Given the description of an element on the screen output the (x, y) to click on. 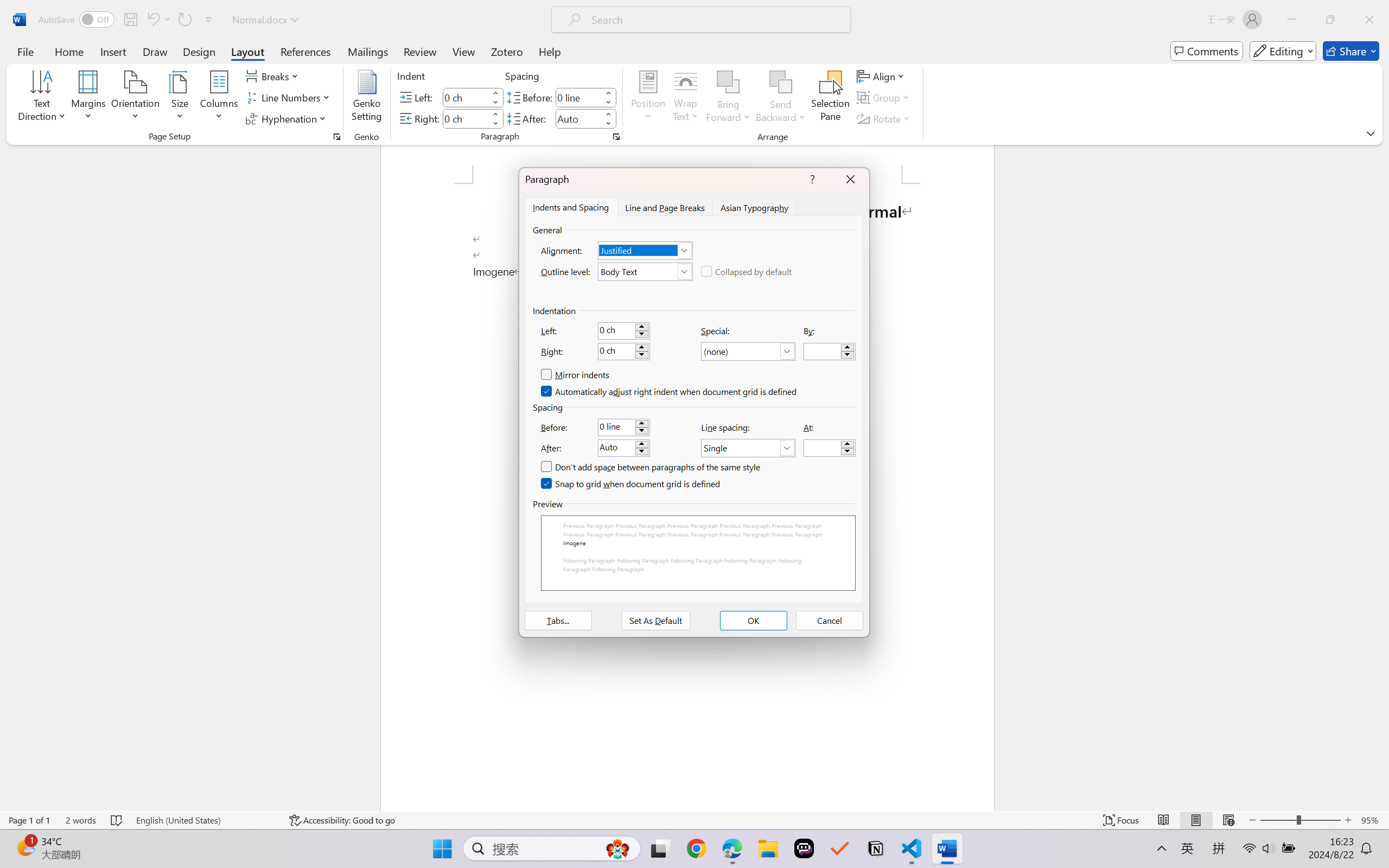
Send Backward (781, 81)
Special: (748, 351)
Tabs... (558, 620)
RichEdit Control (822, 447)
Help (549, 51)
